Given the description of an element on the screen output the (x, y) to click on. 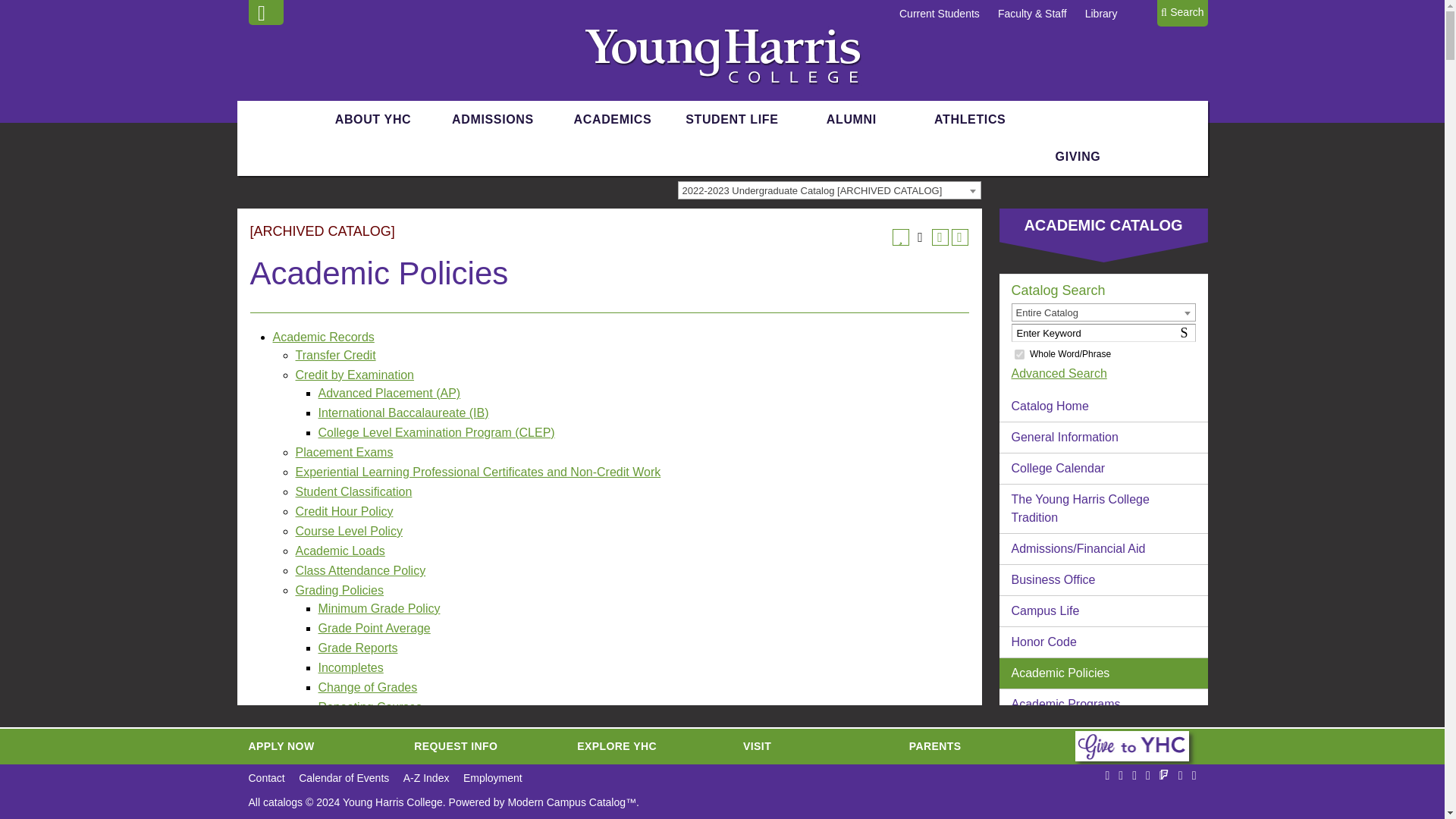
Current Students (939, 13)
Home (721, 55)
Library (1101, 13)
Enter Keyword   (1103, 332)
1 (1019, 353)
Select a Catalog (829, 189)
